Given the description of an element on the screen output the (x, y) to click on. 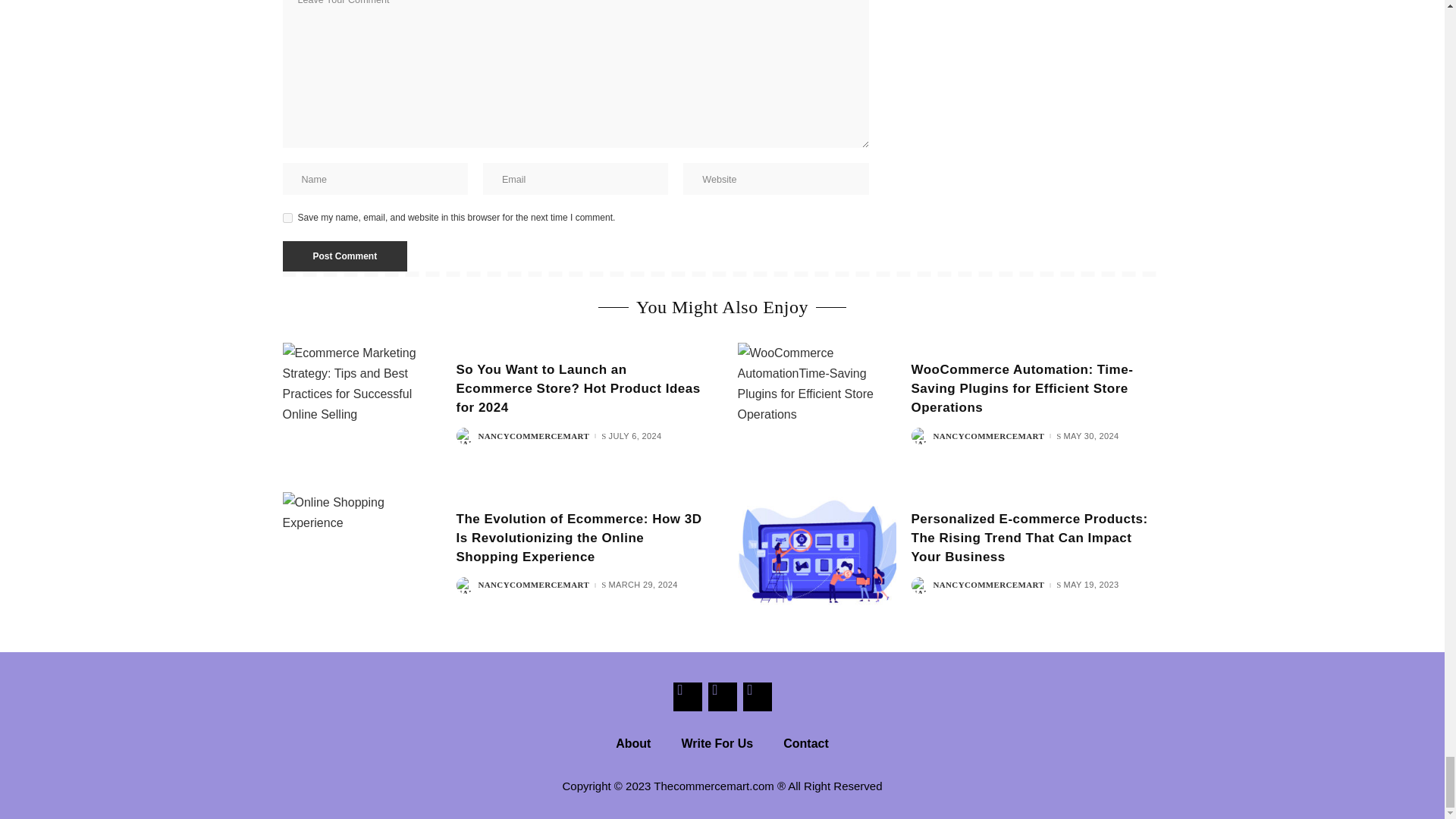
yes (287, 217)
Post Comment (344, 255)
